Given the description of an element on the screen output the (x, y) to click on. 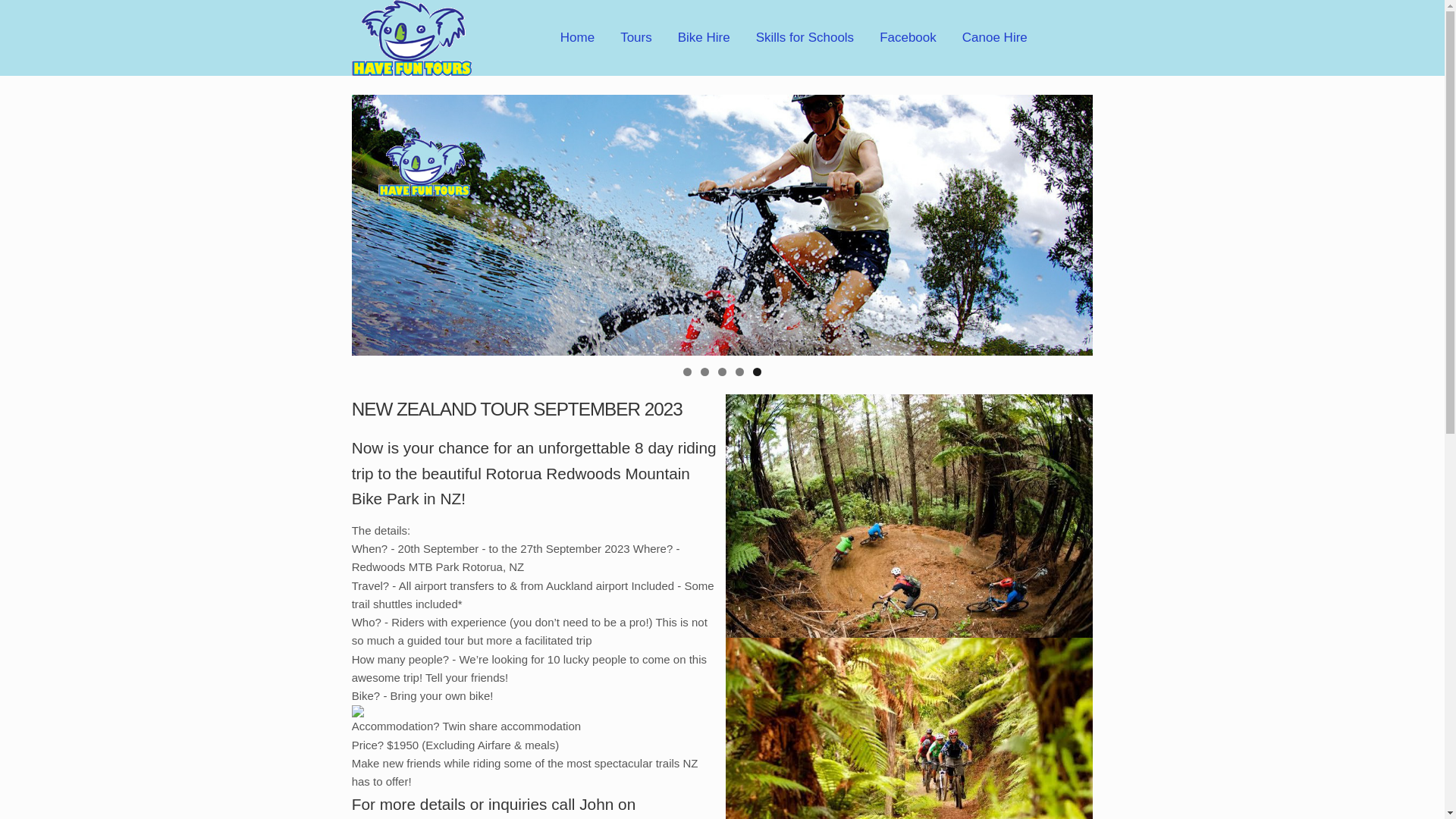
Skip to content Element type: text (388, 37)
Tours Element type: text (636, 37)
Skip to navigation Element type: text (396, 37)
1 Element type: text (687, 371)
Slide1 Element type: hover (722, 224)
3 Element type: text (722, 371)
Bike Hire Element type: text (704, 37)
2 Element type: text (704, 371)
Home Element type: text (577, 37)
5 Element type: text (757, 371)
Facebook Element type: text (907, 37)
Skills for Schools Element type: text (804, 37)
4 Element type: text (739, 371)
Canoe Hire Element type: text (994, 37)
